Given the description of an element on the screen output the (x, y) to click on. 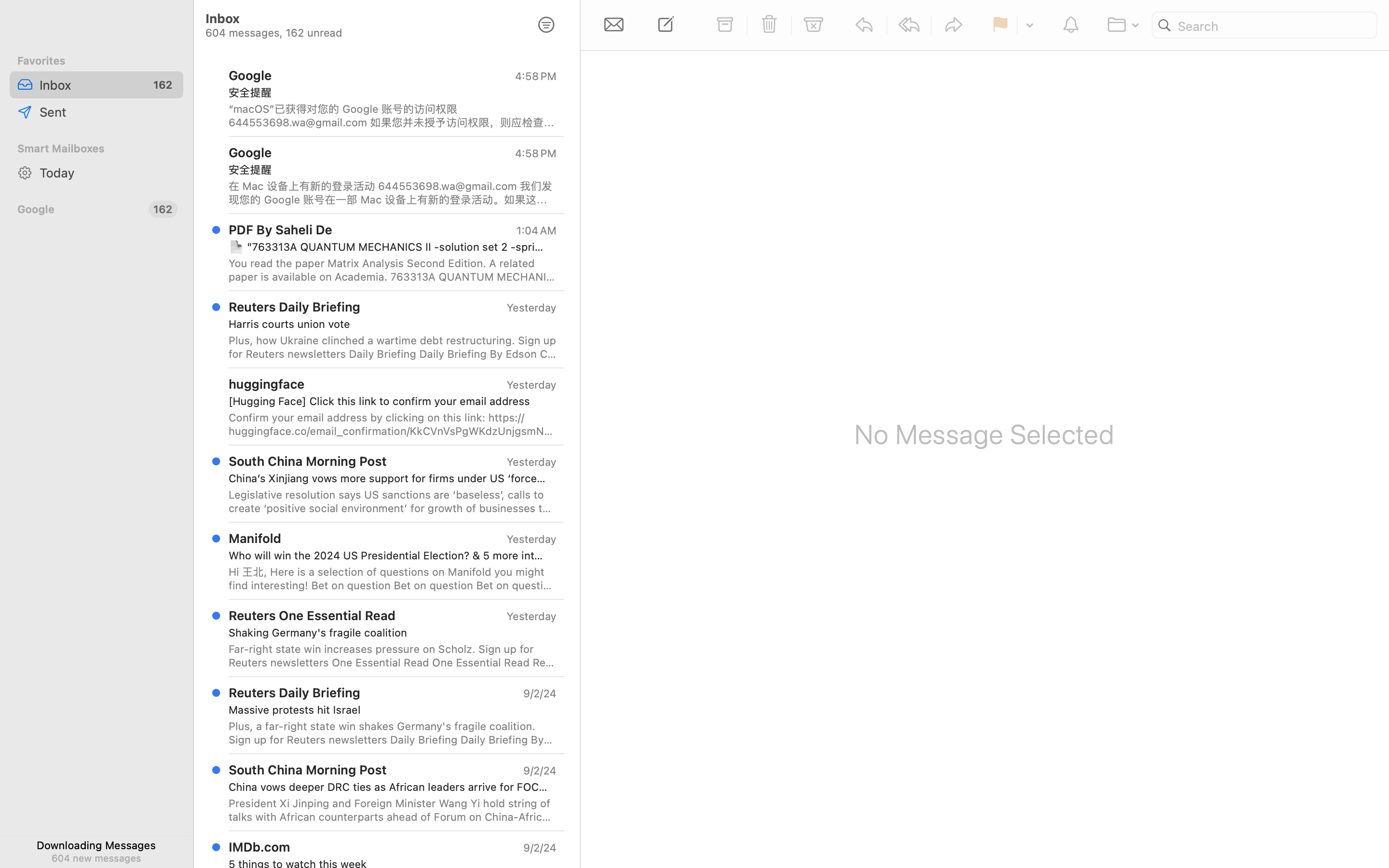
“macOS”已获得对您的 Google 账号的访问权限 644553698.wa@gmail.com 如果您并未授予访问权限，则应检查此活动，并确保您的账号安全。 查看活动 您也可以访问以下网址查看安全性活动： https://myaccount.google.com/notifications 我们向您发送这封电子邮件，目的是让您了解关于您的 Google 账号和服务的重大变化。 © 2024 Google LLC, 1600 Amphitheatre Parkway, Mountain View, CA 94043, USA Element type: AXStaticText (392, 115)
